Given the description of an element on the screen output the (x, y) to click on. 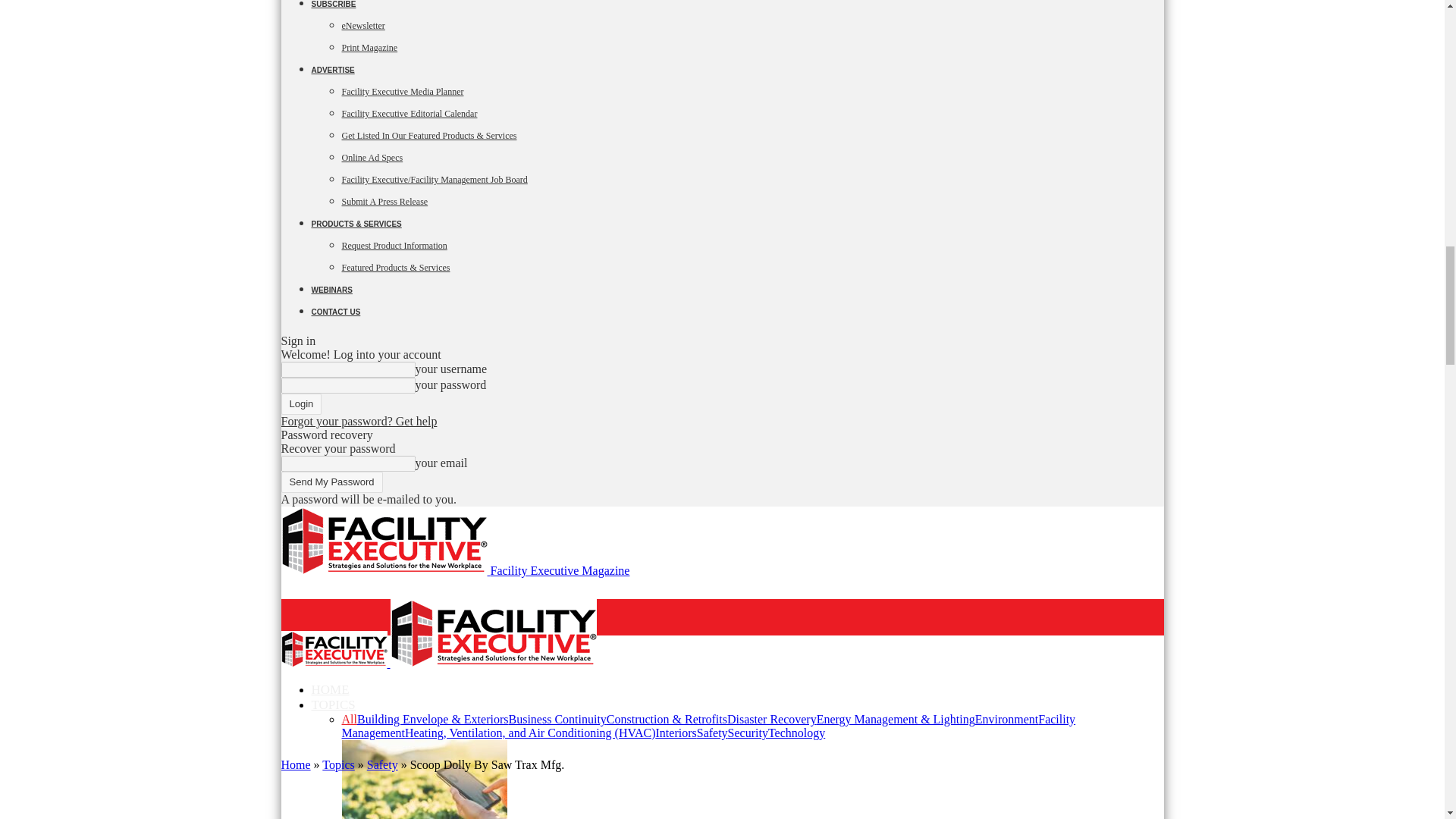
Strategies and Solutions for the New Workplace (383, 540)
Send My Password (331, 482)
Smart Savings With Smart Irrigation (423, 779)
Login (301, 403)
Strategies and Solutions for the New Workplace (334, 648)
Strategies and Solutions for the New Workplace (492, 632)
